Given the description of an element on the screen output the (x, y) to click on. 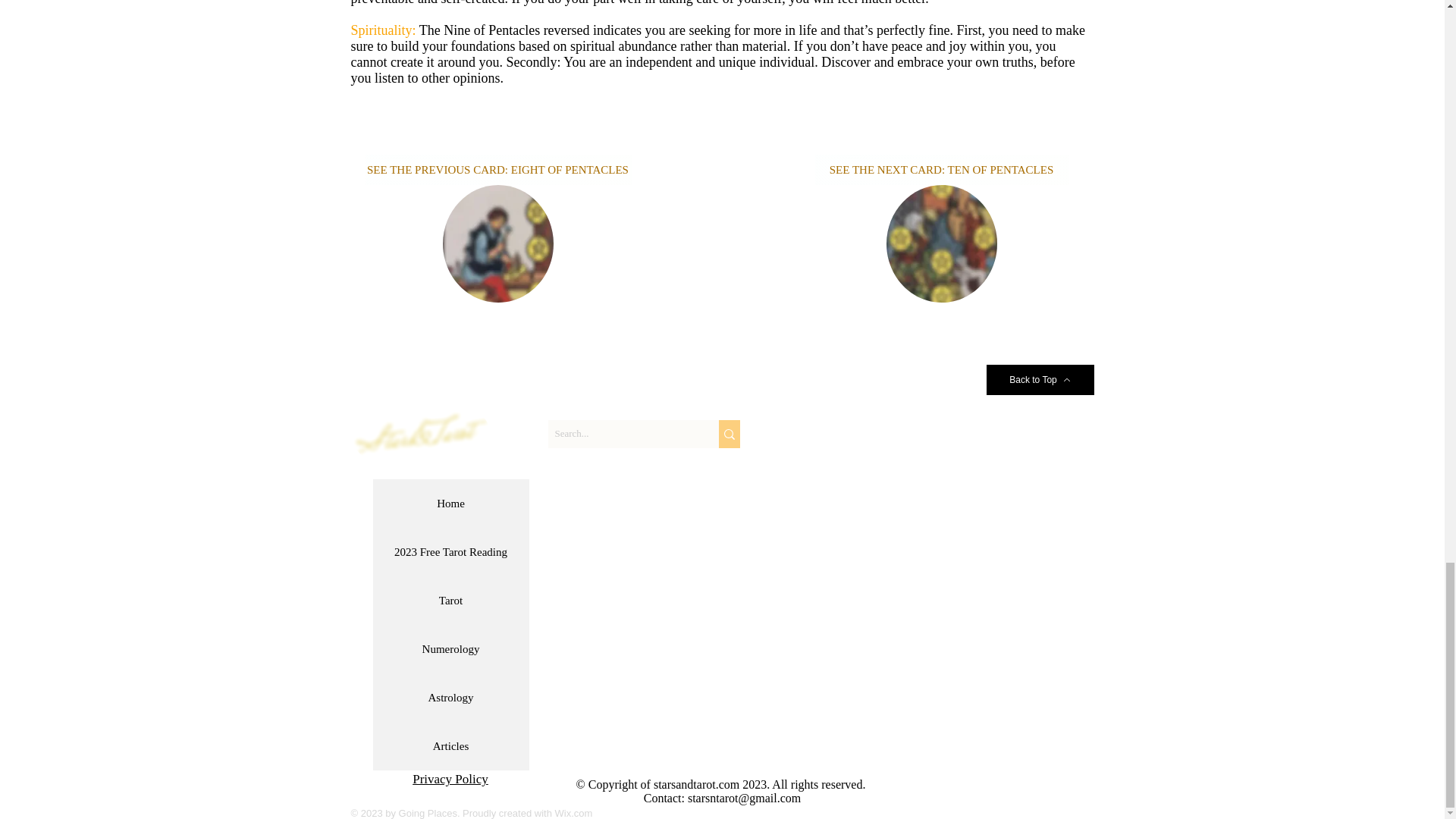
Tarot (450, 600)
2023 Free Tarot Reading (450, 551)
SEE THE PREVIOUS CARD: EIGHT OF PENTACLES (498, 169)
SEE THE NEXT CARD: TEN OF PENTACLES (940, 169)
Back to Top (1039, 379)
Articles (450, 745)
Astrology (450, 697)
Numerology (450, 648)
jen-theodore-WC96v1kqMag-unsplash.jpg (940, 243)
Home (450, 503)
Privacy Policy (449, 779)
jen-theodore-WC96v1kqMag-unsplash.jpg (497, 243)
